Given the description of an element on the screen output the (x, y) to click on. 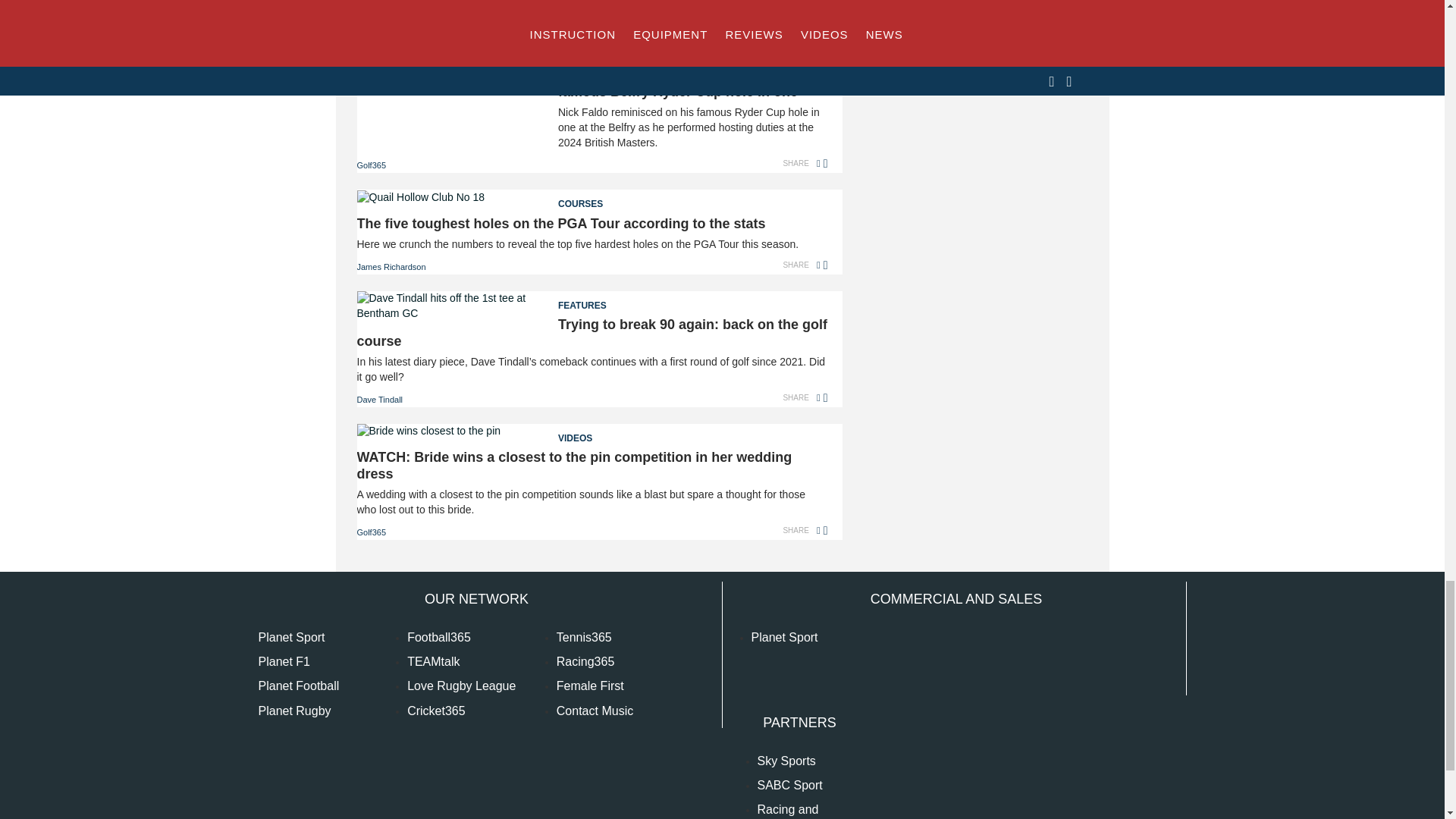
Features (591, 301)
Videos (591, 433)
News (591, 51)
Courses (591, 199)
